Given the description of an element on the screen output the (x, y) to click on. 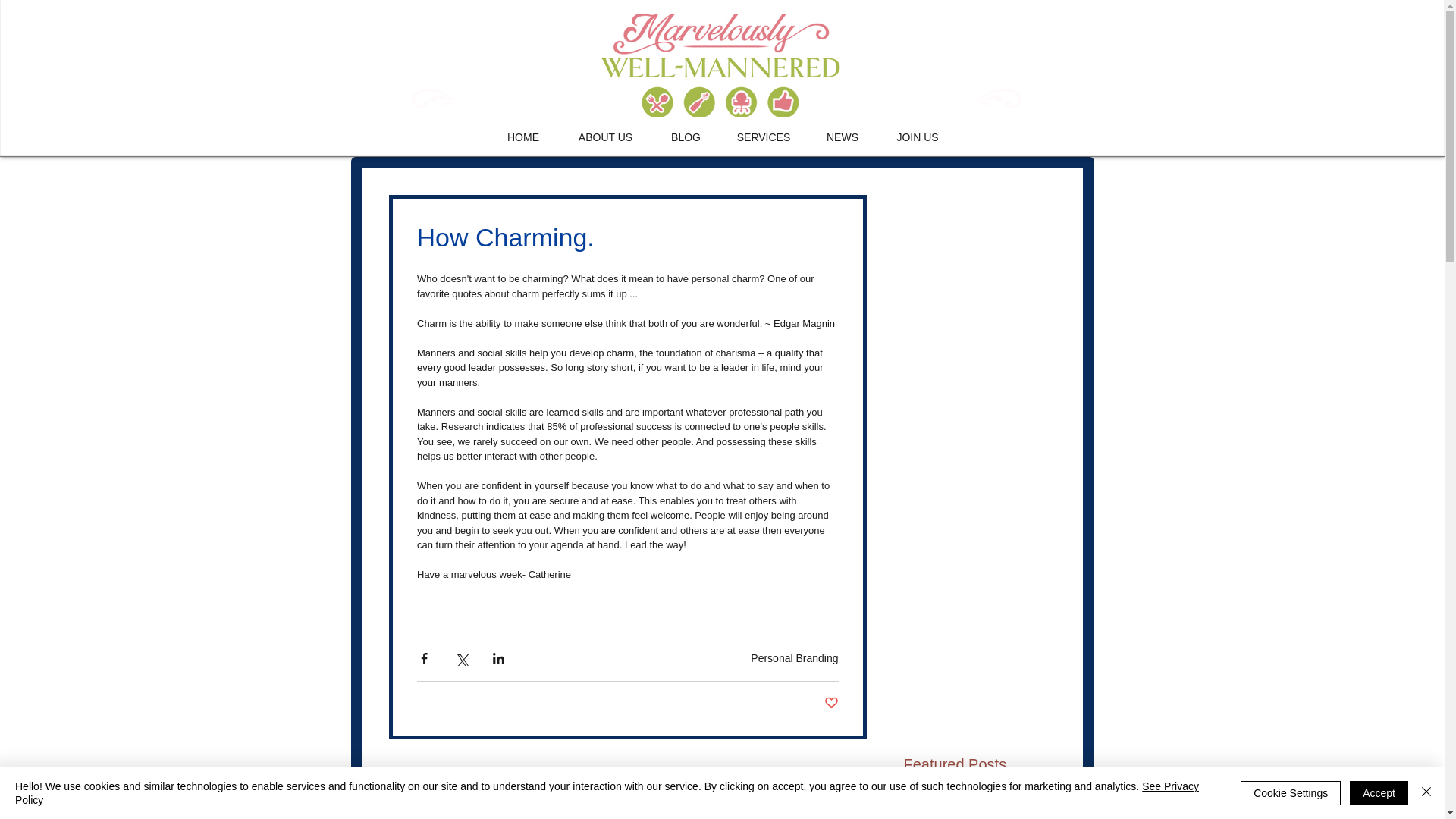
01-03.png (719, 65)
Post not marked as liked (831, 703)
JOIN US (917, 137)
SERVICES (764, 137)
NEWS (841, 137)
HOME (522, 137)
ABOUT US (605, 137)
BLOG (686, 137)
Personal Branding (794, 657)
